Given the description of an element on the screen output the (x, y) to click on. 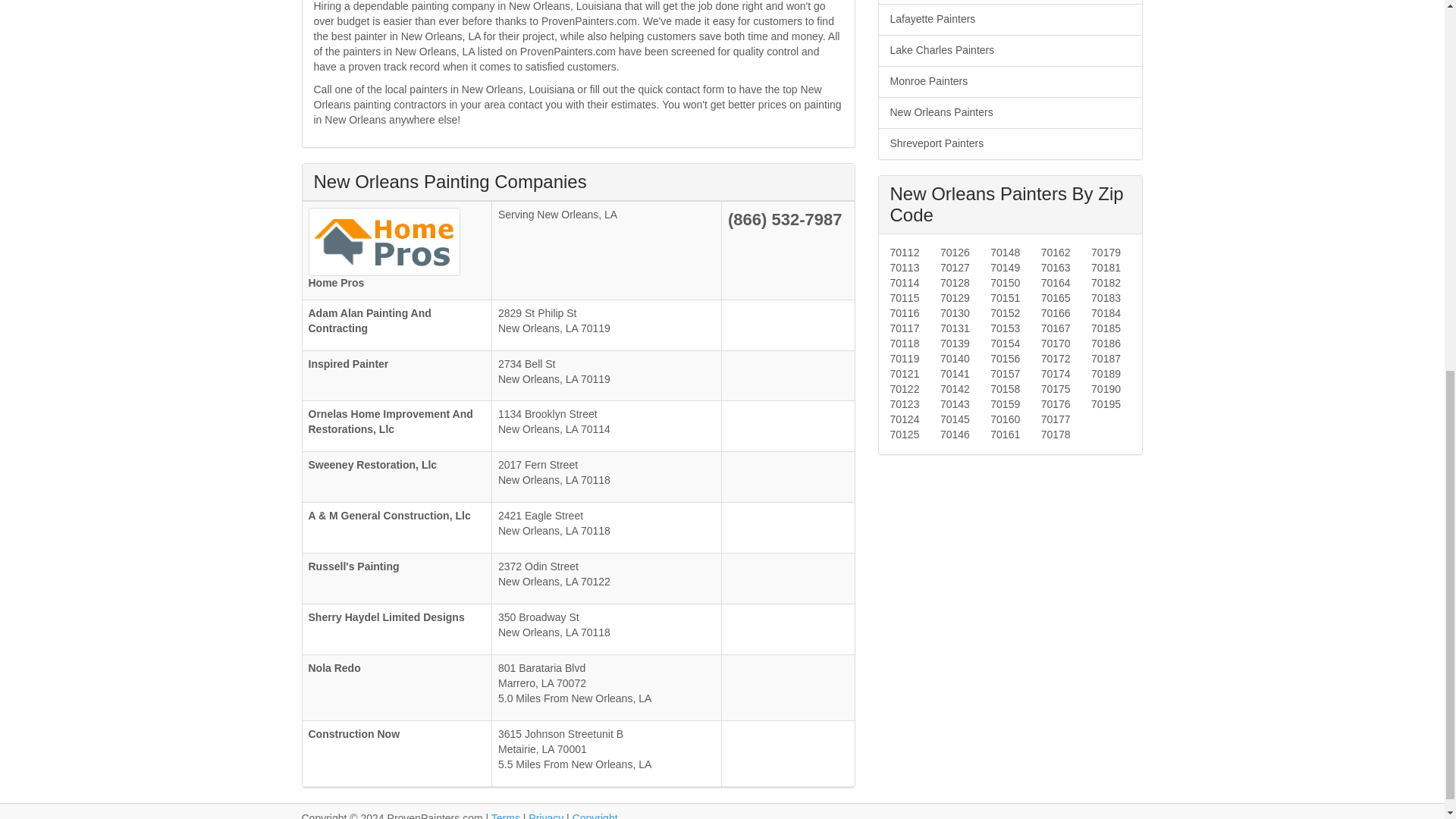
New Orleans Painters (1009, 112)
Kenner Painters (1009, 2)
Shreveport Painters (1009, 142)
Monroe Painters (1009, 81)
Lake Charles Painters (1009, 50)
Lafayette Painters (1009, 20)
